Given the description of an element on the screen output the (x, y) to click on. 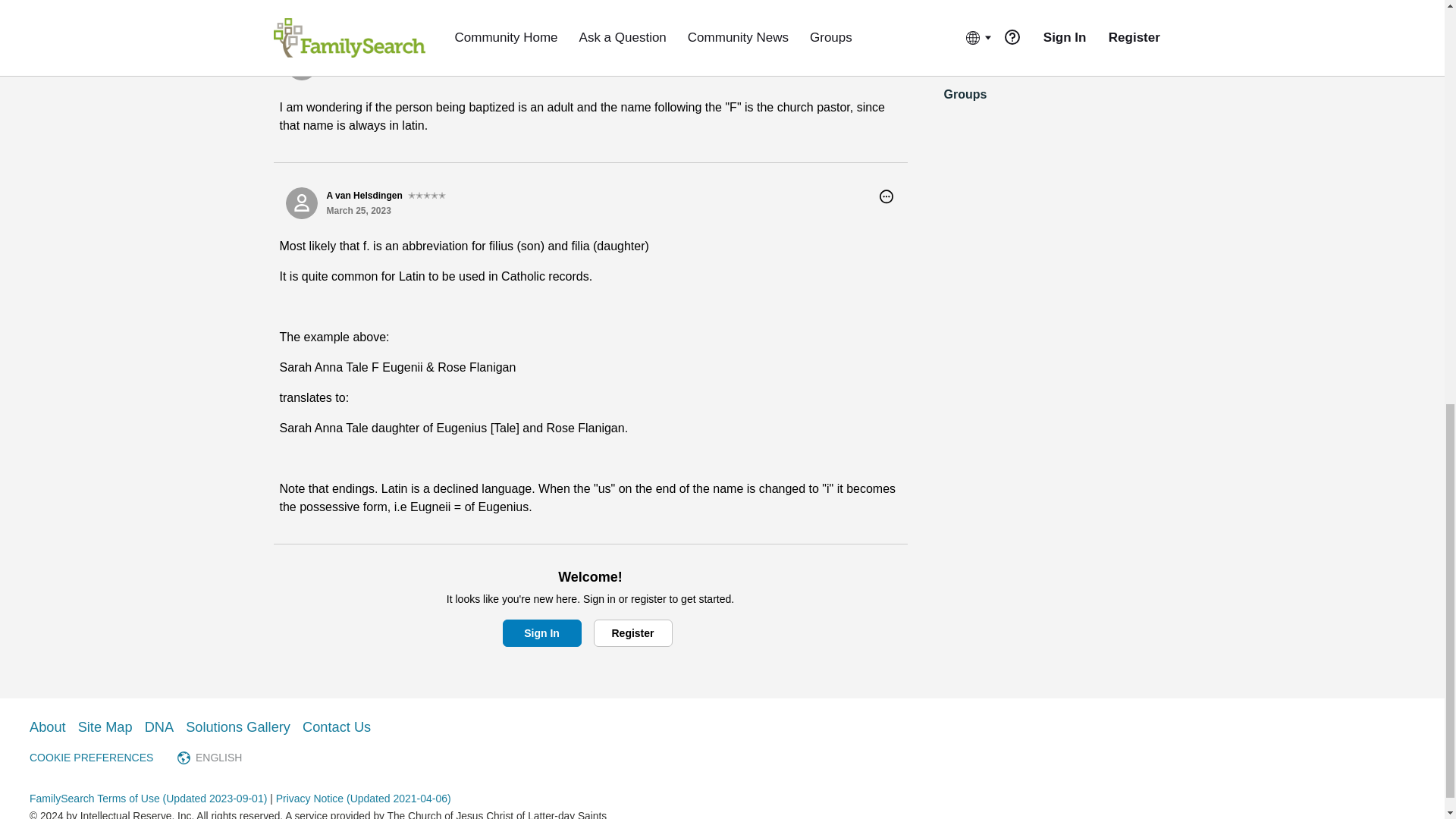
March 25, 2023 6:53AM (358, 71)
March 25, 2023 9:01AM (358, 210)
Level 5 (426, 195)
MargaretPark (301, 64)
A van Helsdingen (301, 203)
Sign In (541, 633)
Level 1 (393, 56)
